Given the description of an element on the screen output the (x, y) to click on. 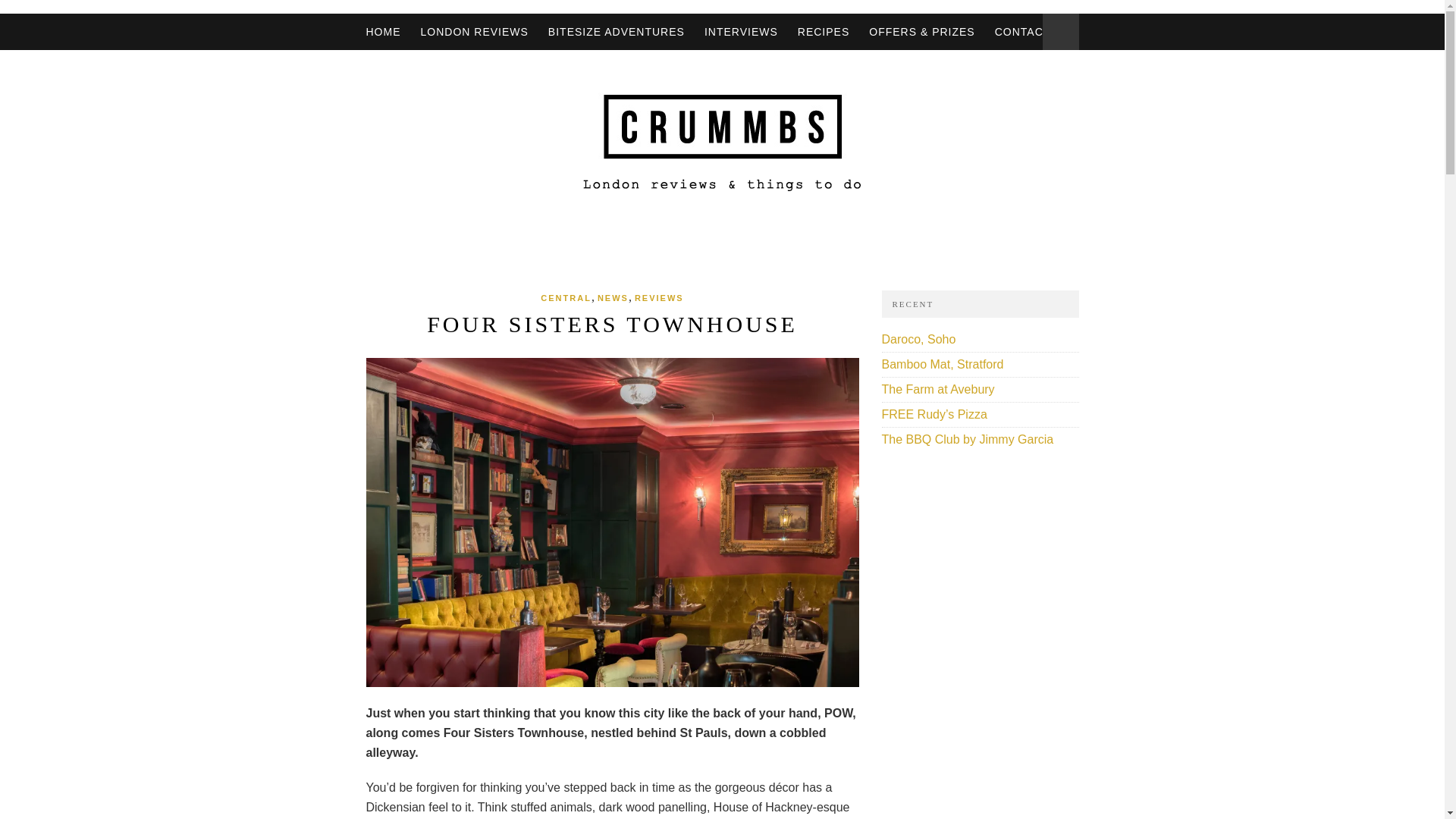
RECIPES (822, 31)
CENTRAL (565, 297)
View all posts in Central (565, 297)
INTERVIEWS (740, 31)
View all posts in Reviews (659, 297)
BITESIZE ADVENTURES (616, 31)
View all posts in News (612, 297)
LONDON REVIEWS (473, 31)
NEWS (612, 297)
CONTACT (1022, 31)
HOME (382, 31)
